Given the description of an element on the screen output the (x, y) to click on. 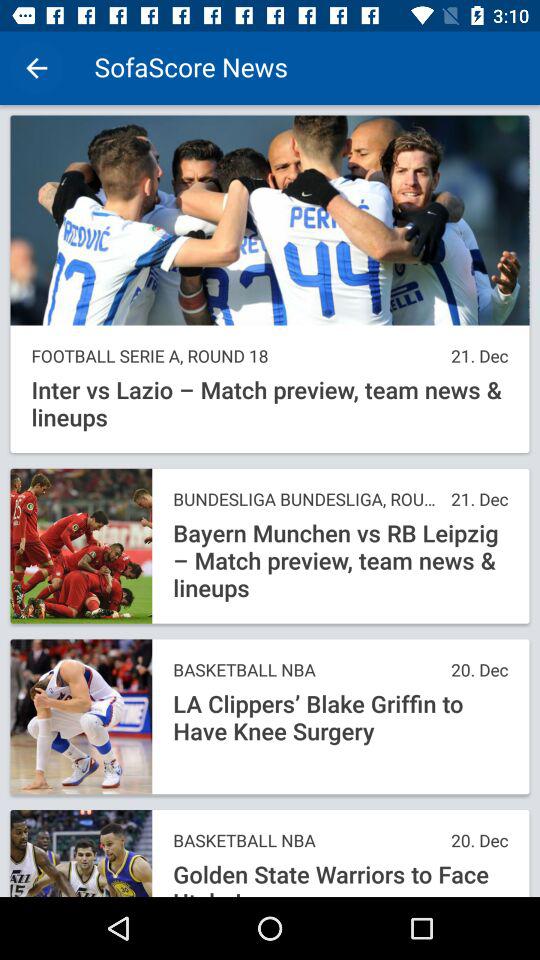
launch the bundesliga bundesliga round (306, 499)
